Given the description of an element on the screen output the (x, y) to click on. 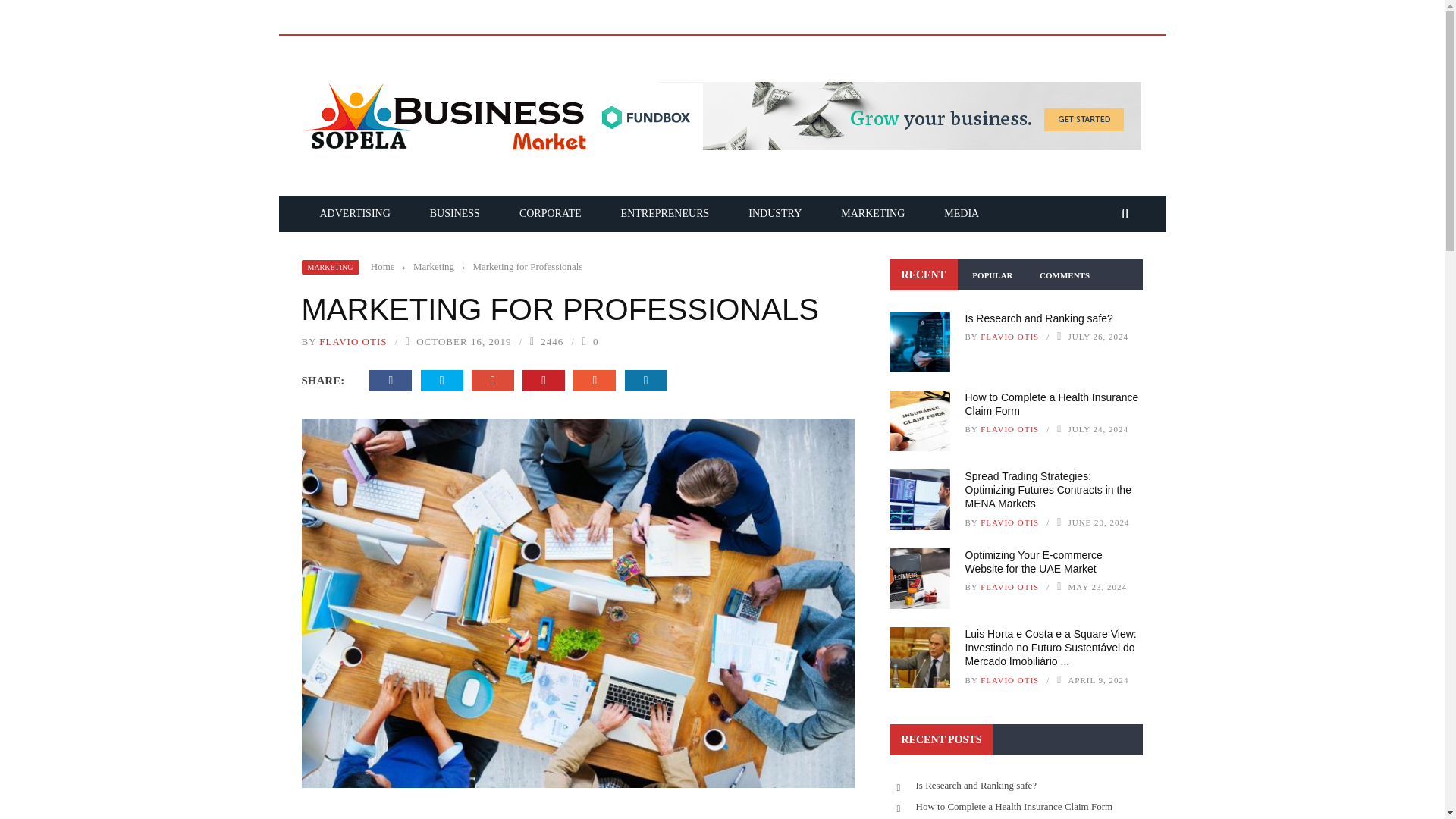
Pinterest (543, 380)
Twitter (441, 380)
Facebook (390, 380)
Stumbleupon (594, 380)
FLAVIO OTIS (352, 341)
ENTREPRENEURS (665, 213)
MARKETING (872, 213)
ADVERTISING (355, 213)
Linkedin (645, 380)
Google Plus (492, 380)
MEDIA (961, 213)
MARKETING (330, 267)
BUSINESS (454, 213)
Home (382, 266)
CORPORATE (549, 213)
